Given the description of an element on the screen output the (x, y) to click on. 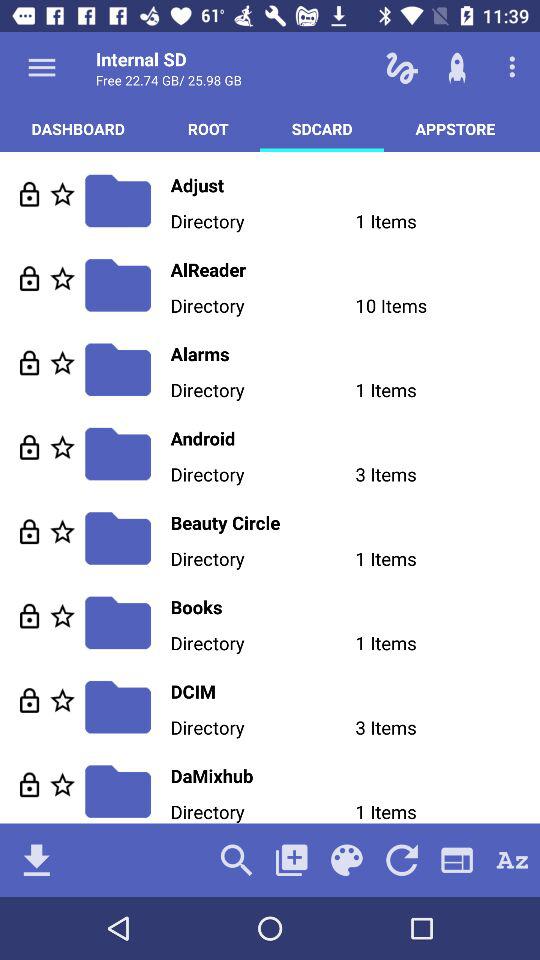
toggle folder lock (29, 446)
